Given the description of an element on the screen output the (x, y) to click on. 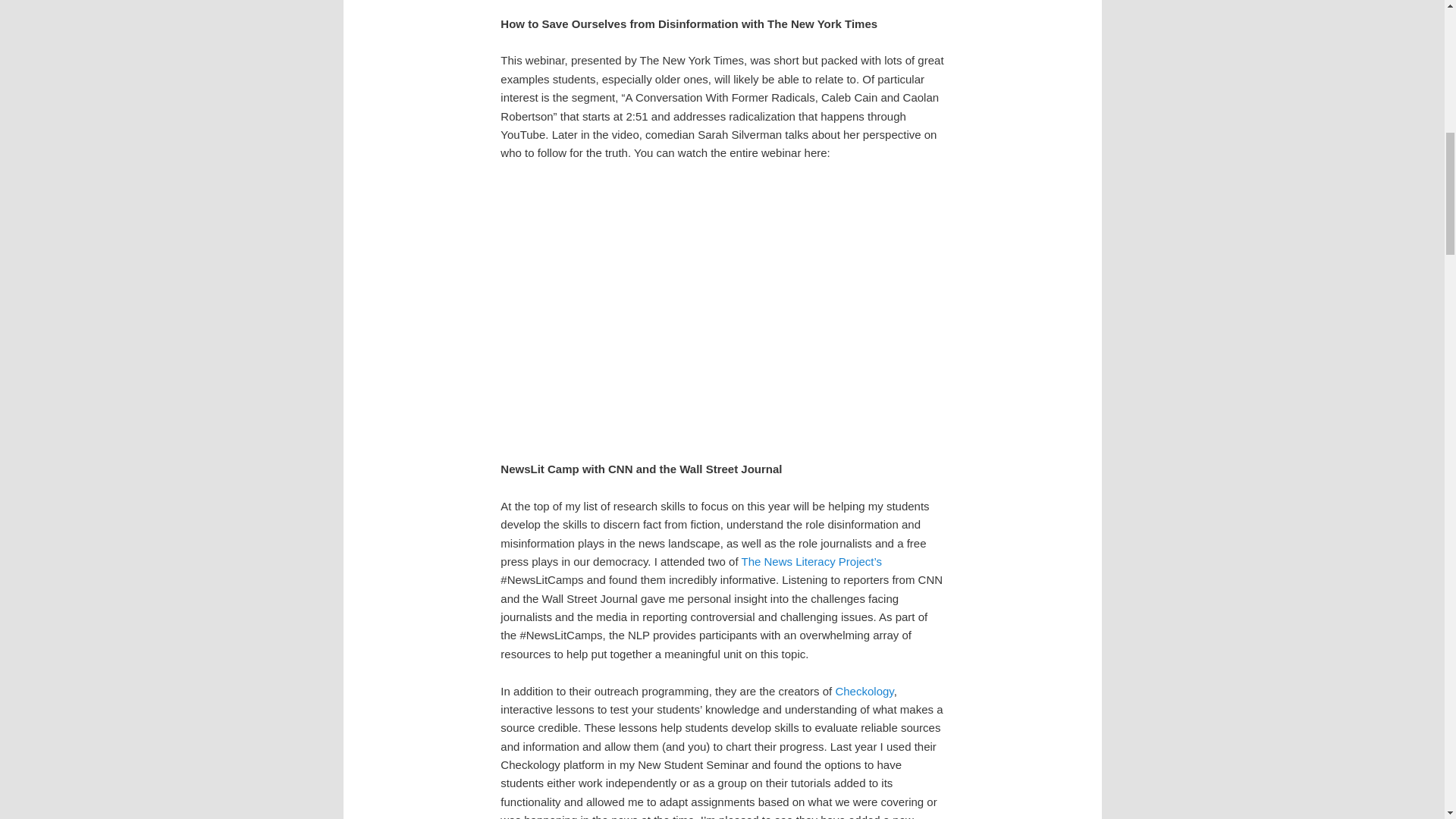
Checkology (863, 690)
